Given the description of an element on the screen output the (x, y) to click on. 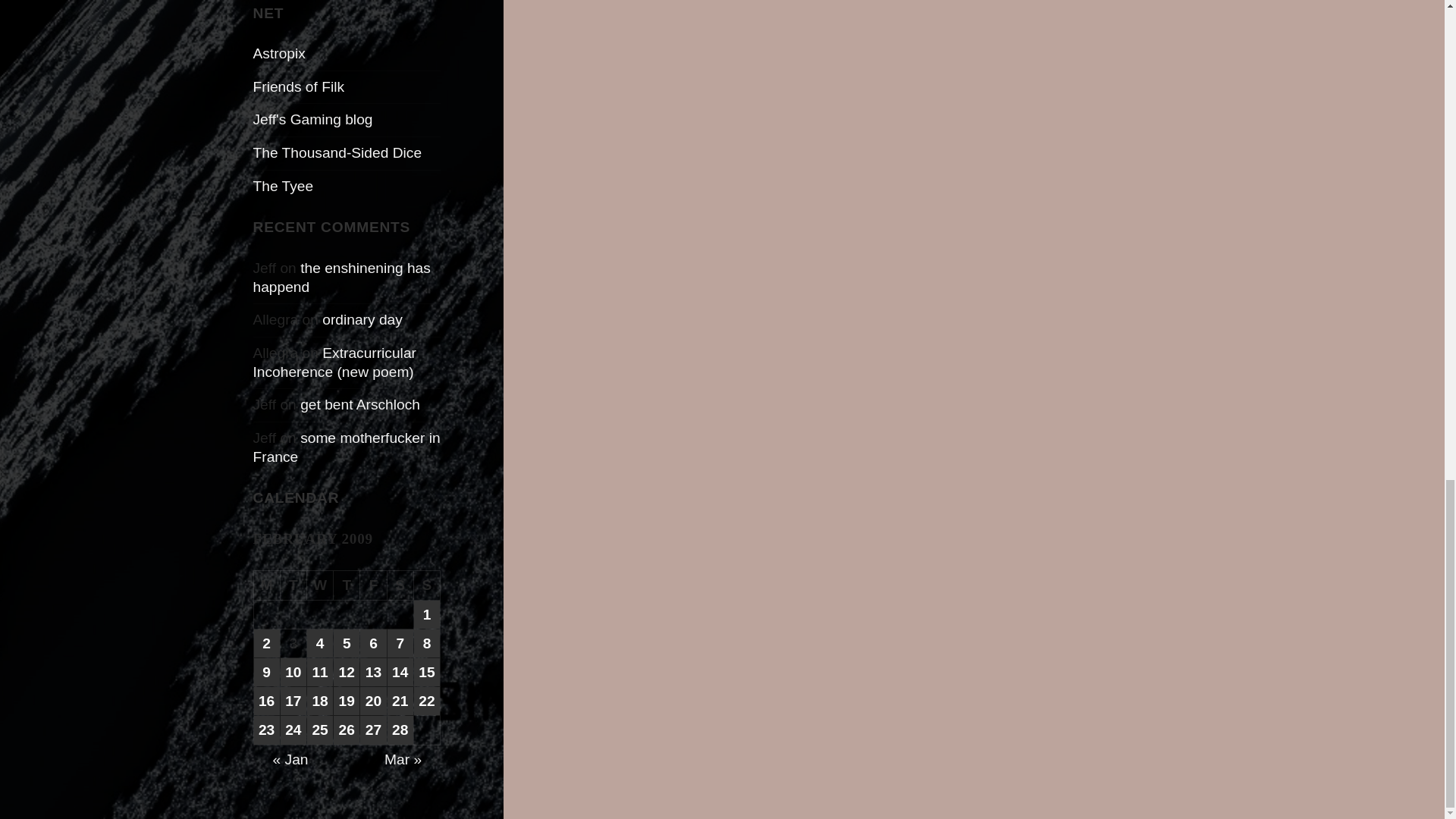
15 (426, 672)
Wednesday (320, 584)
10 (293, 672)
The Tyee (283, 186)
9 (266, 672)
Monday (267, 584)
7 (400, 643)
Tuesday (294, 584)
11 (320, 672)
14 (400, 672)
